Given the description of an element on the screen output the (x, y) to click on. 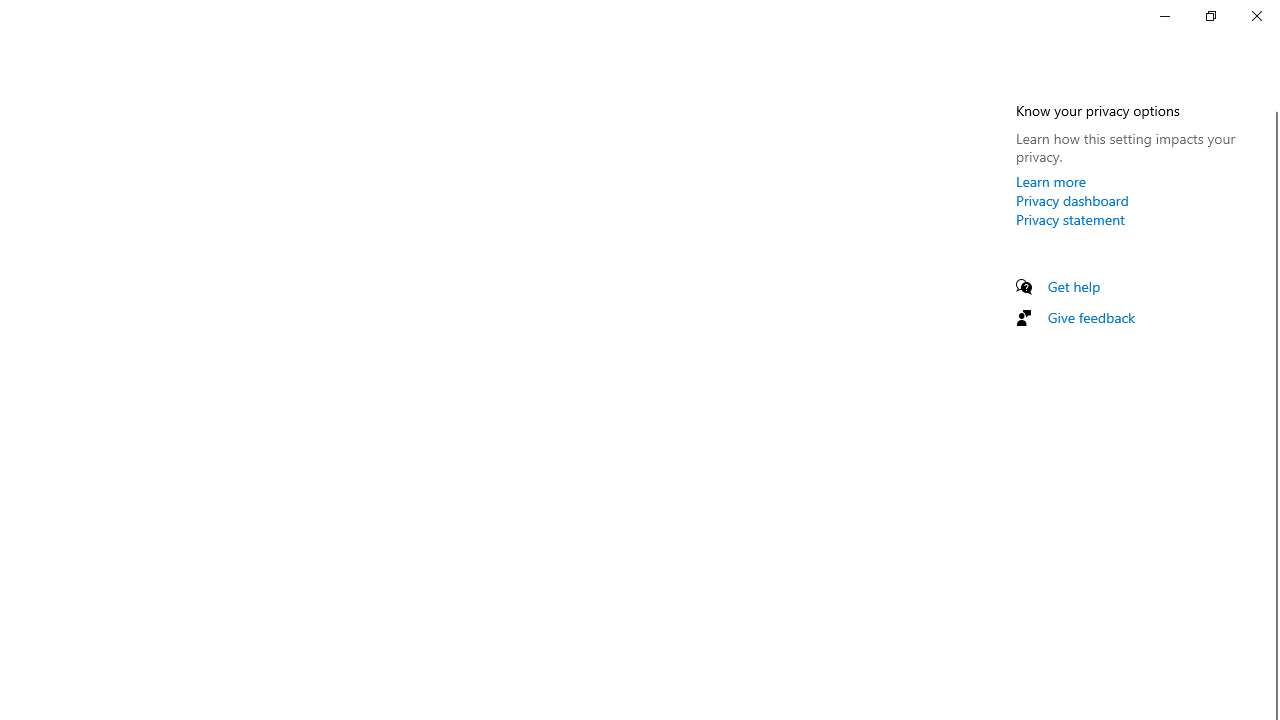
Privacy statement (1070, 219)
Learn more (1051, 181)
Privacy dashboard (1072, 200)
Get help (1074, 286)
Give feedback (1091, 317)
Vertical Small Decrease (1272, 103)
